Given the description of an element on the screen output the (x, y) to click on. 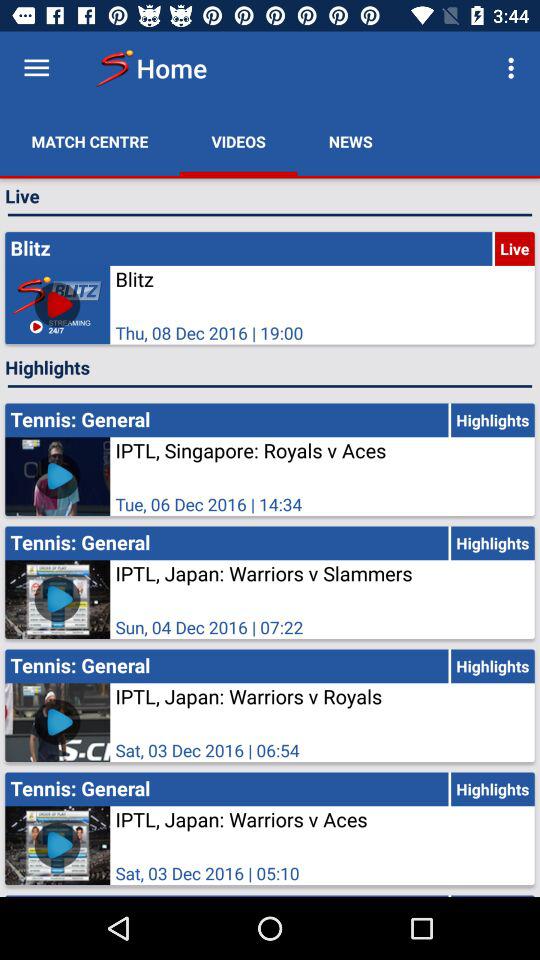
turn off app next to match centre item (238, 141)
